Given the description of an element on the screen output the (x, y) to click on. 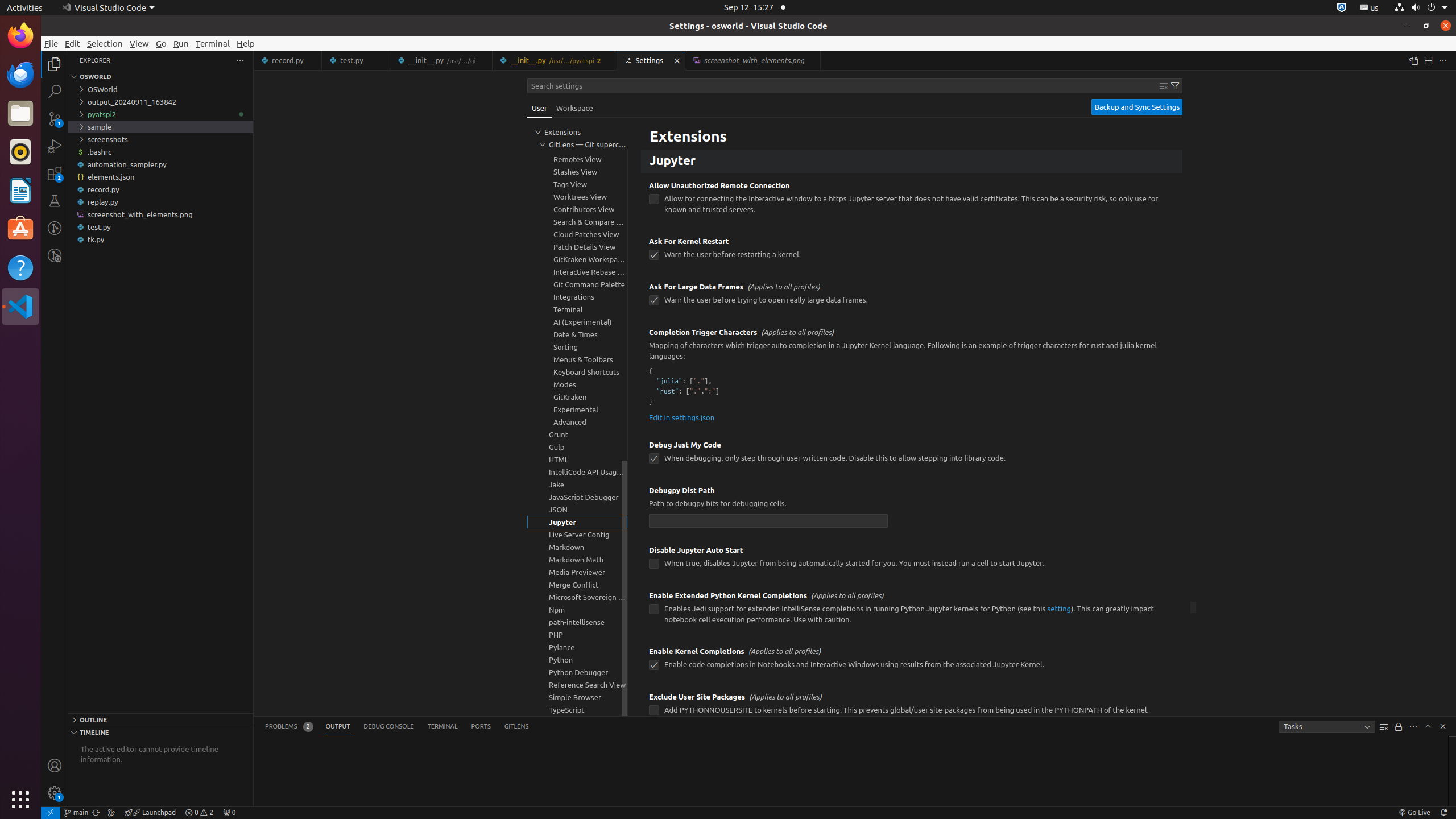
Maximize Panel Size Element type: check-box (1427, 726)
AI (Experimental), group Element type: tree-item (577, 321)
OSWorld Element type: tree-item (160, 89)
